Given the description of an element on the screen output the (x, y) to click on. 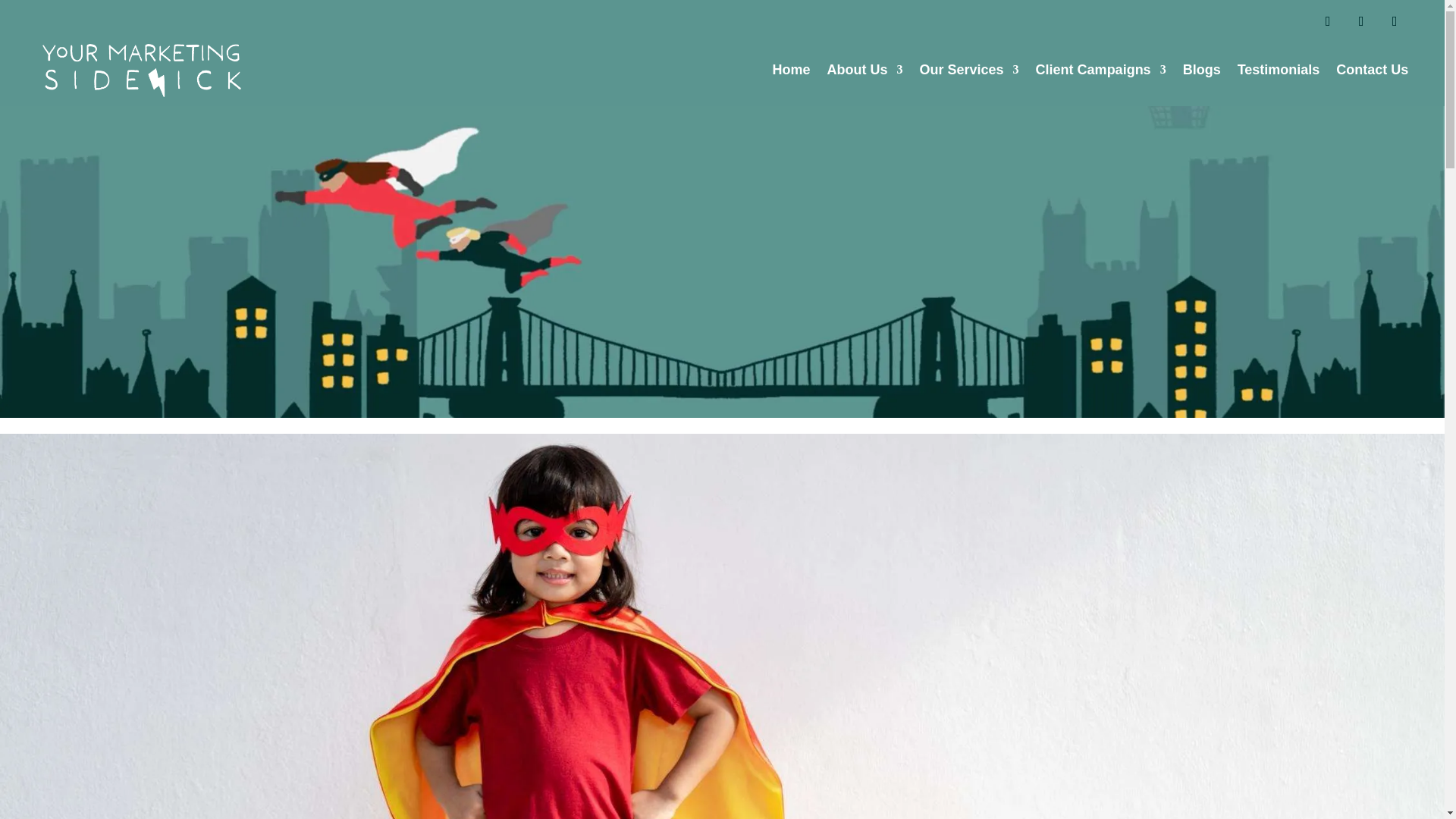
Our Services (969, 69)
Client Campaigns (1100, 69)
Follow on Instagram (1361, 21)
Contact Us (1371, 69)
Follow on LinkedIn (1393, 21)
About Us (864, 69)
Testimonials (1278, 69)
Follow on Facebook (1327, 21)
